Given the description of an element on the screen output the (x, y) to click on. 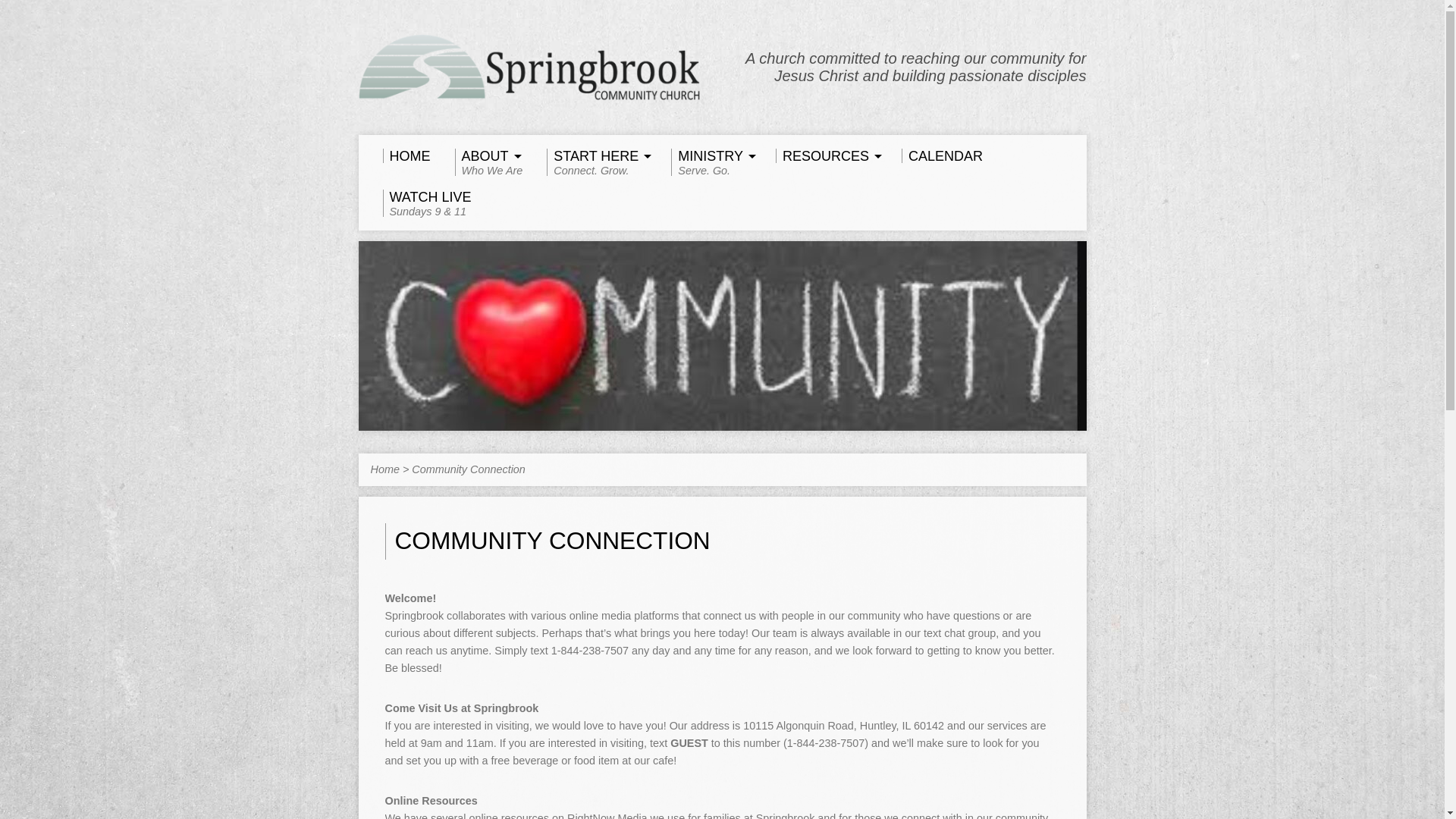
Home (383, 469)
HOME (711, 162)
Note Worthly Links (596, 162)
RESOURCES (405, 155)
CALENDAR (826, 155)
